Given the description of an element on the screen output the (x, y) to click on. 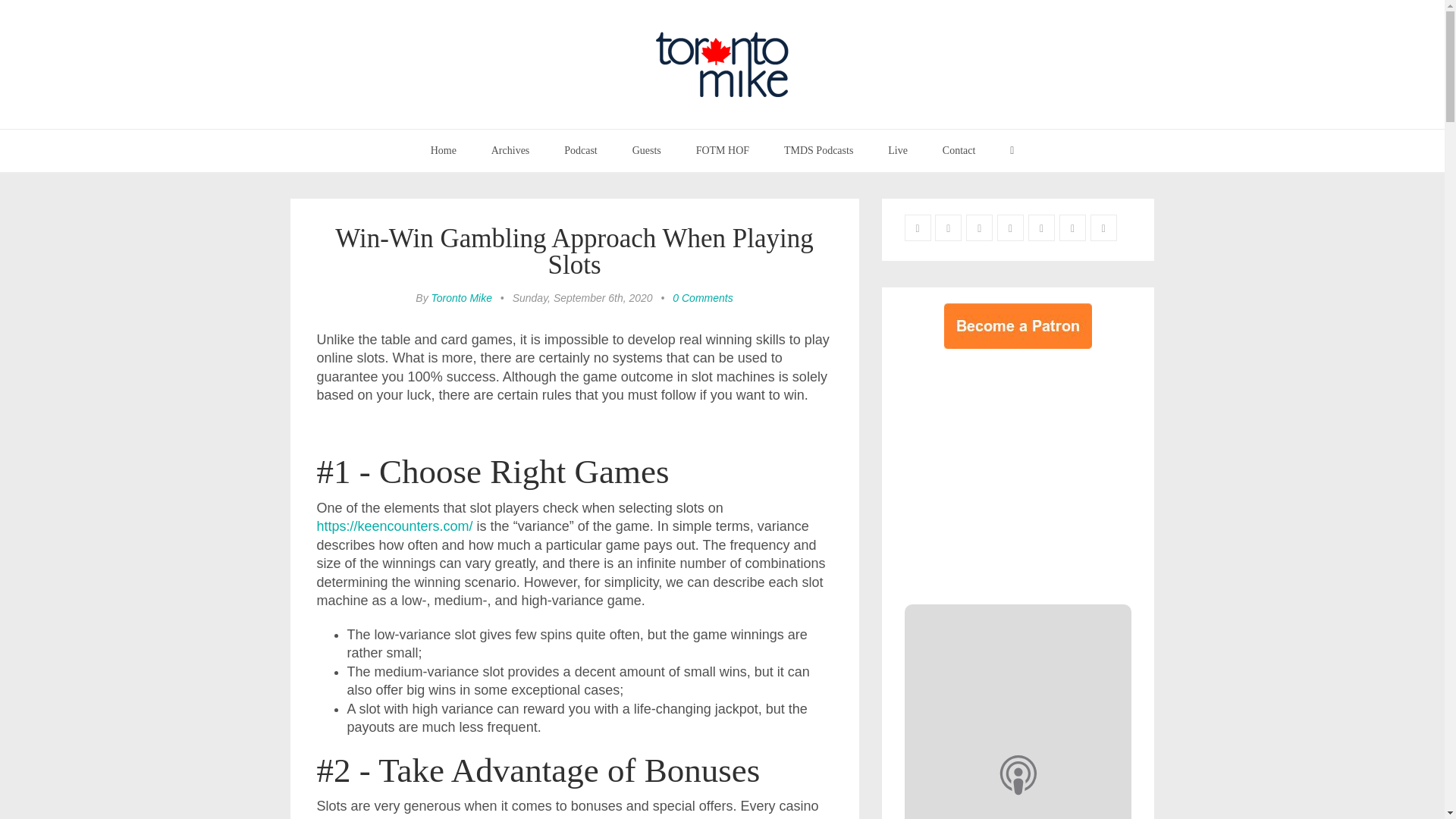
Podcast (580, 150)
FOTM HOF (722, 150)
Live (897, 150)
TMDS Podcasts (818, 150)
0 Comments (702, 297)
Guests (646, 150)
Toronto Mike (461, 297)
Home (442, 150)
Contact (958, 150)
Archives (511, 150)
